Given the description of an element on the screen output the (x, y) to click on. 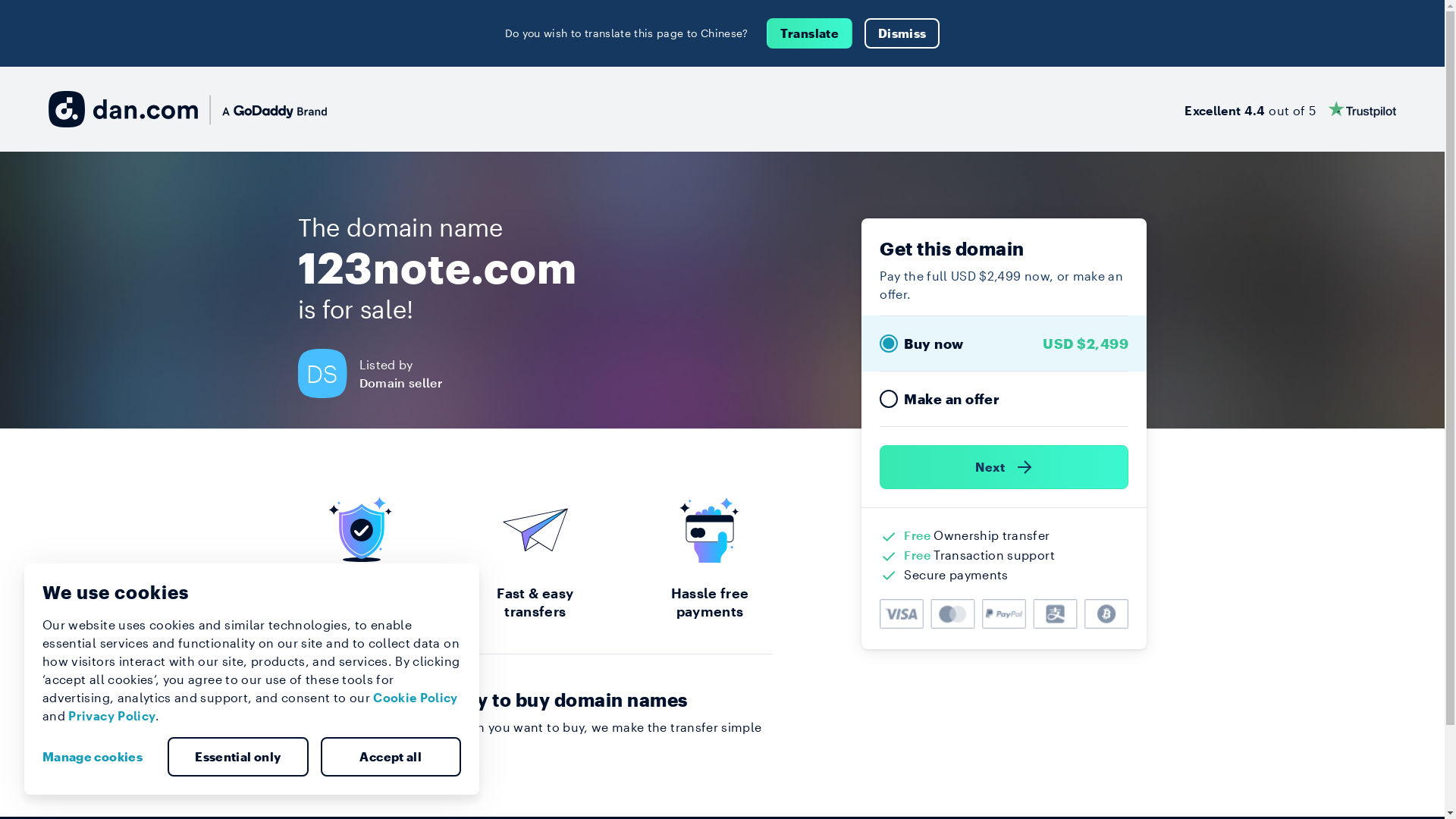
Excellent 4.4 out of 5 Element type: text (1290, 109)
Cookie Policy Element type: text (415, 697)
Privacy Policy Element type: text (111, 715)
Dismiss Element type: text (901, 33)
Next
) Element type: text (1003, 467)
Accept all Element type: text (390, 756)
Essential only Element type: text (237, 756)
Manage cookies Element type: text (98, 756)
Translate Element type: text (809, 33)
